Given the description of an element on the screen output the (x, y) to click on. 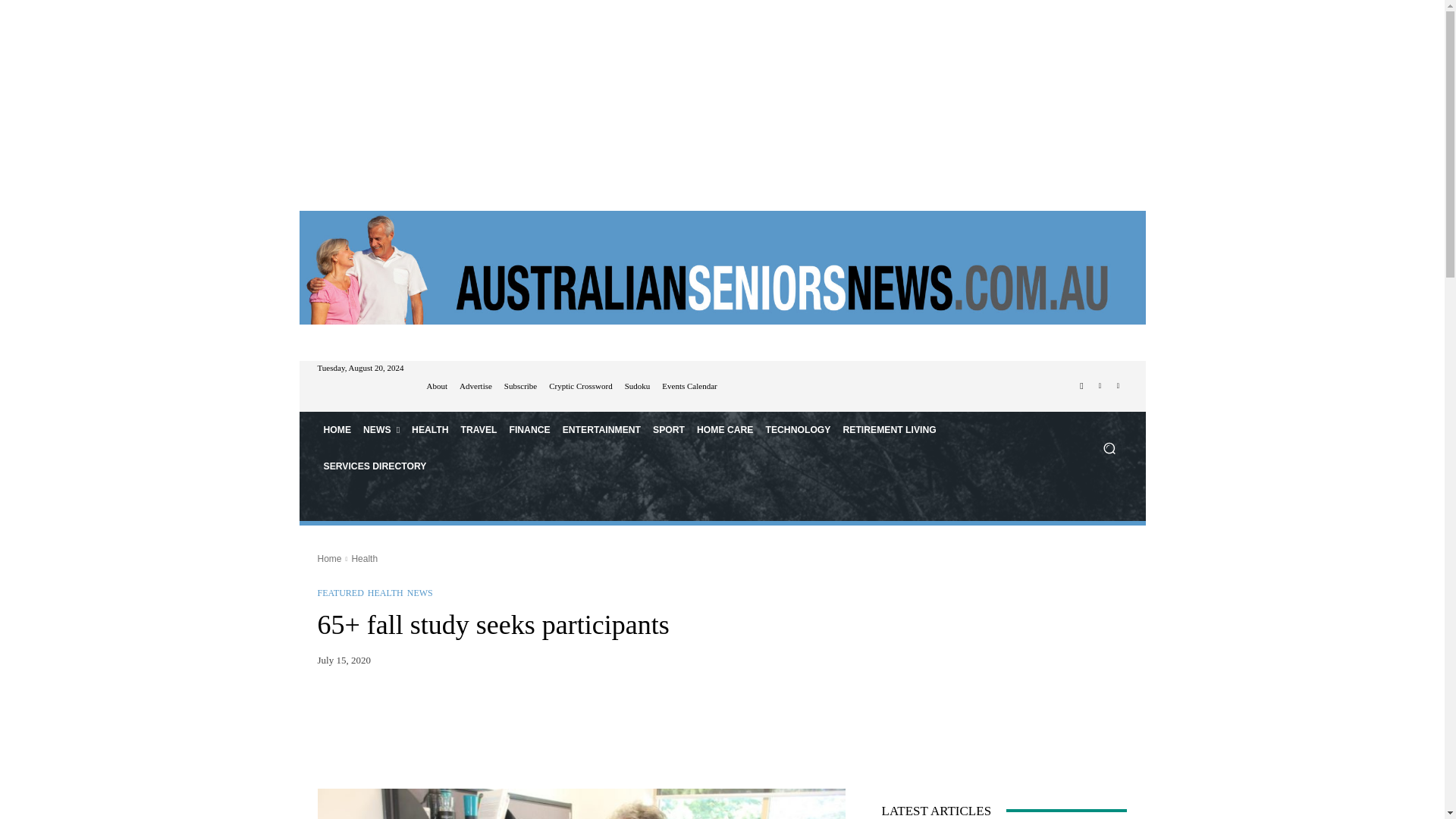
Twitter (1117, 385)
Events Calendar (689, 386)
About (437, 386)
Cryptic Crossword (579, 386)
NEWS (381, 429)
Sudoku (637, 386)
Advertise (476, 386)
View all posts in Health (363, 558)
Linkedin (1099, 385)
